Given the description of an element on the screen output the (x, y) to click on. 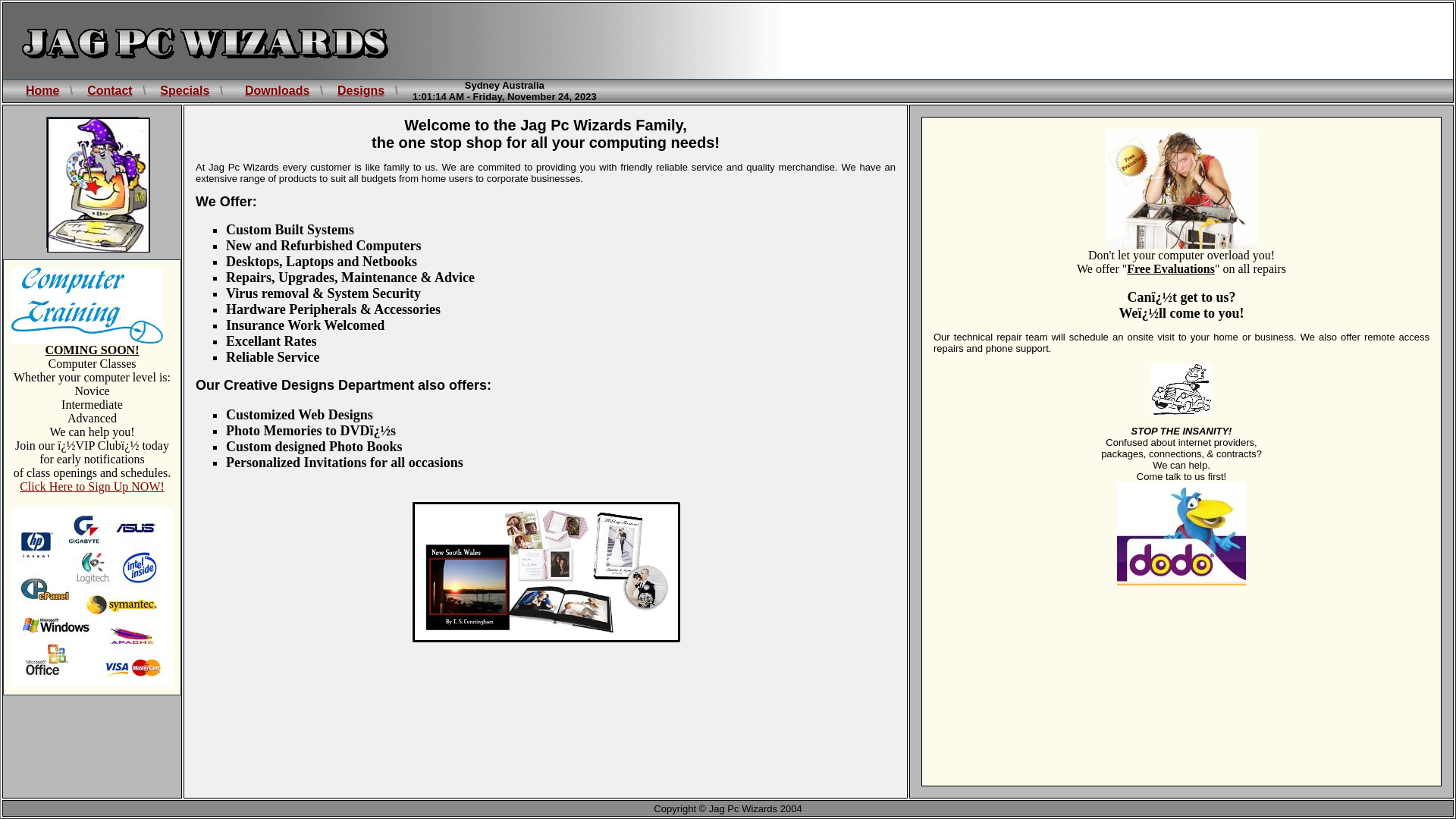
Contact Element type: text (109, 90)
Click Here to Sign Up NOW! Element type: text (91, 486)
Designs Element type: text (360, 90)
Home Element type: text (42, 90)
Downloads Element type: text (276, 90)
Specials Element type: text (184, 90)
